Given the description of an element on the screen output the (x, y) to click on. 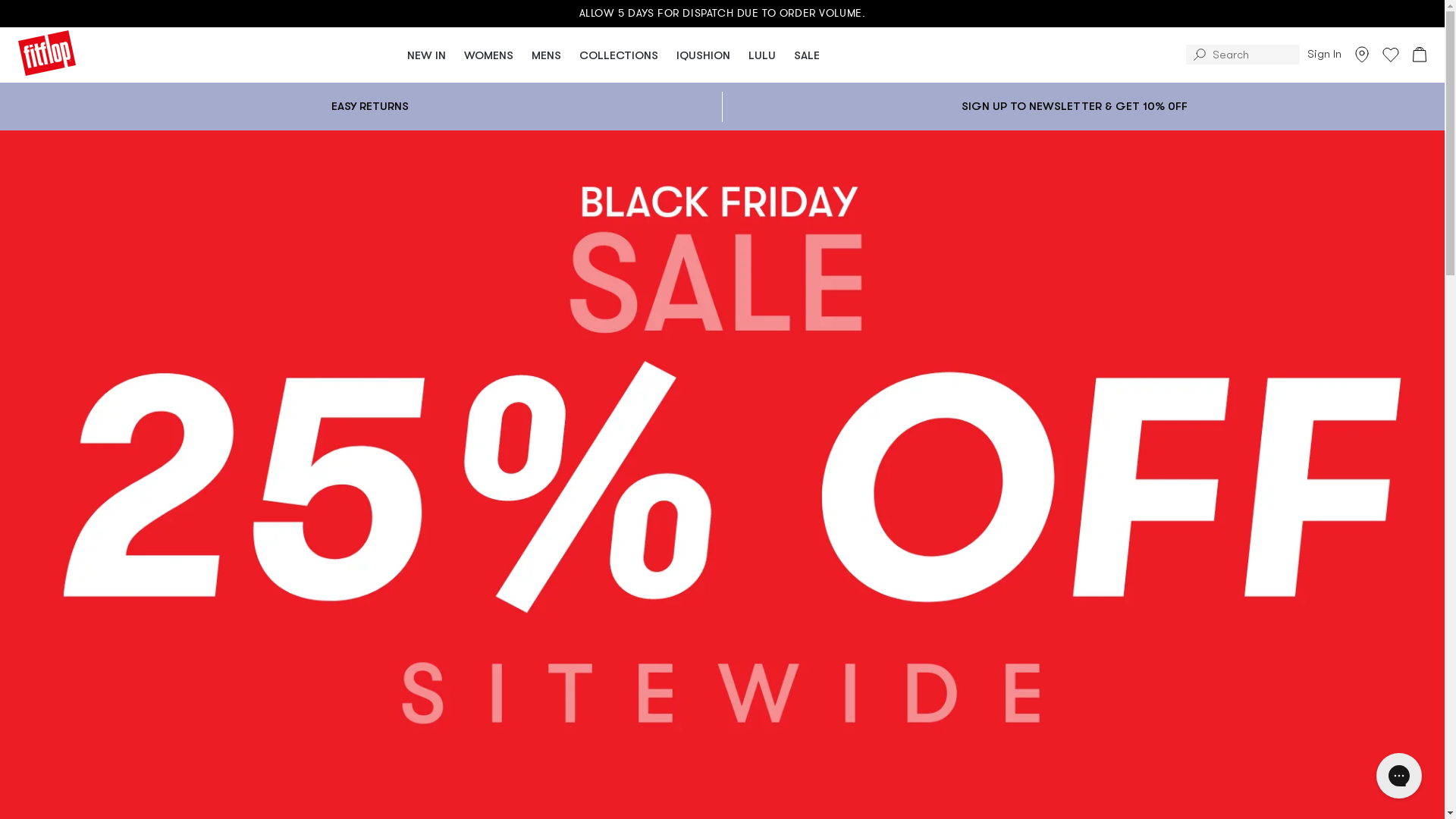
SALE Element type: text (806, 54)
NEW IN Element type: text (426, 54)
EASY RETURNS Element type: text (369, 105)
IQUSHION Element type: text (703, 54)
WOMENS Element type: text (488, 54)
Sign In Element type: text (1324, 54)
LULU Element type: text (761, 54)
MENS Element type: text (546, 54)
Gorgias live chat messenger Element type: hover (1398, 775)
SIGN UP TO NEWSLETTER & GET 10% 0FF Element type: text (1074, 106)
COLLECTIONS Element type: text (618, 54)
